Given the description of an element on the screen output the (x, y) to click on. 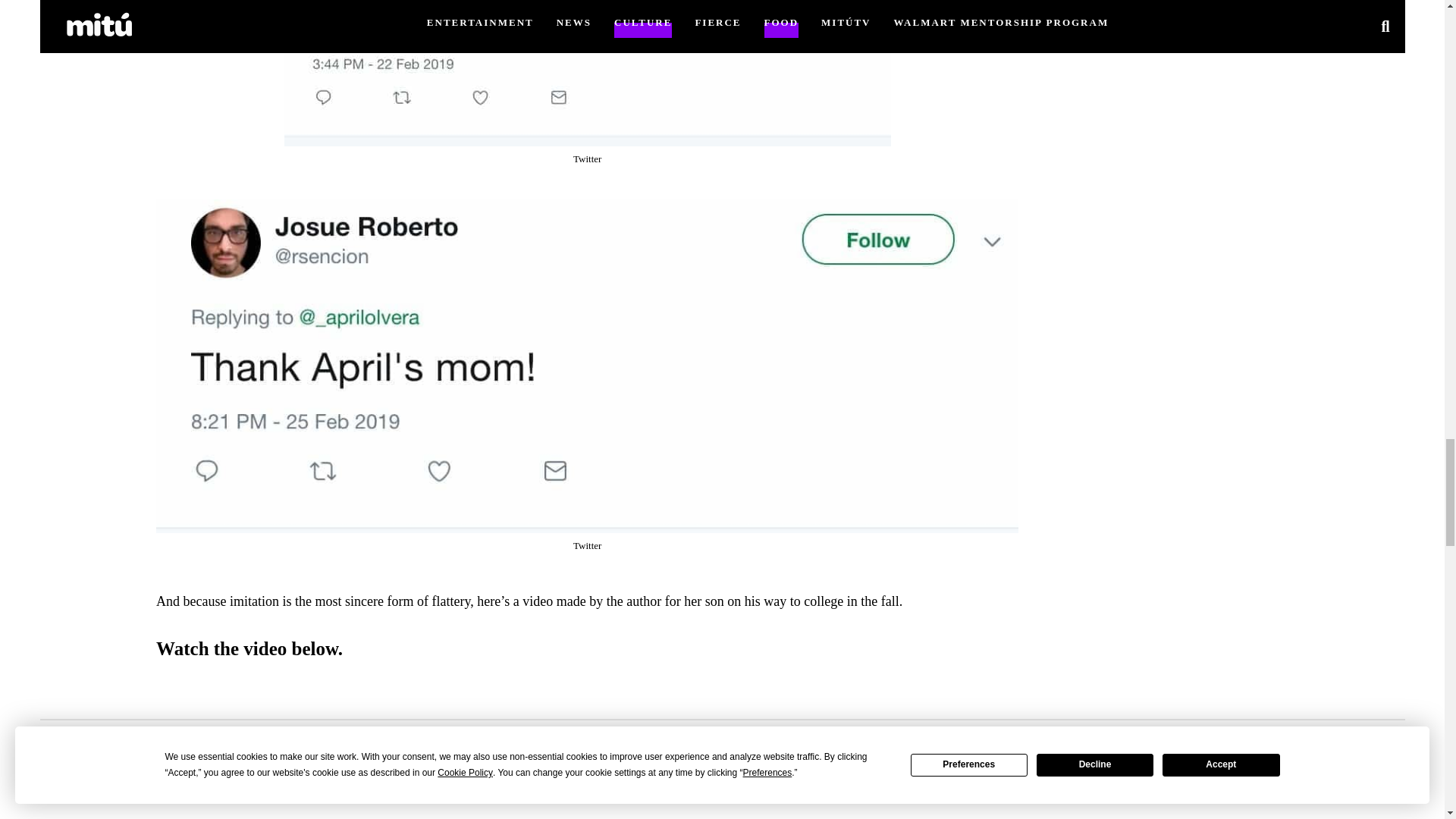
How to roll out flour tortillas (586, 749)
